Given the description of an element on the screen output the (x, y) to click on. 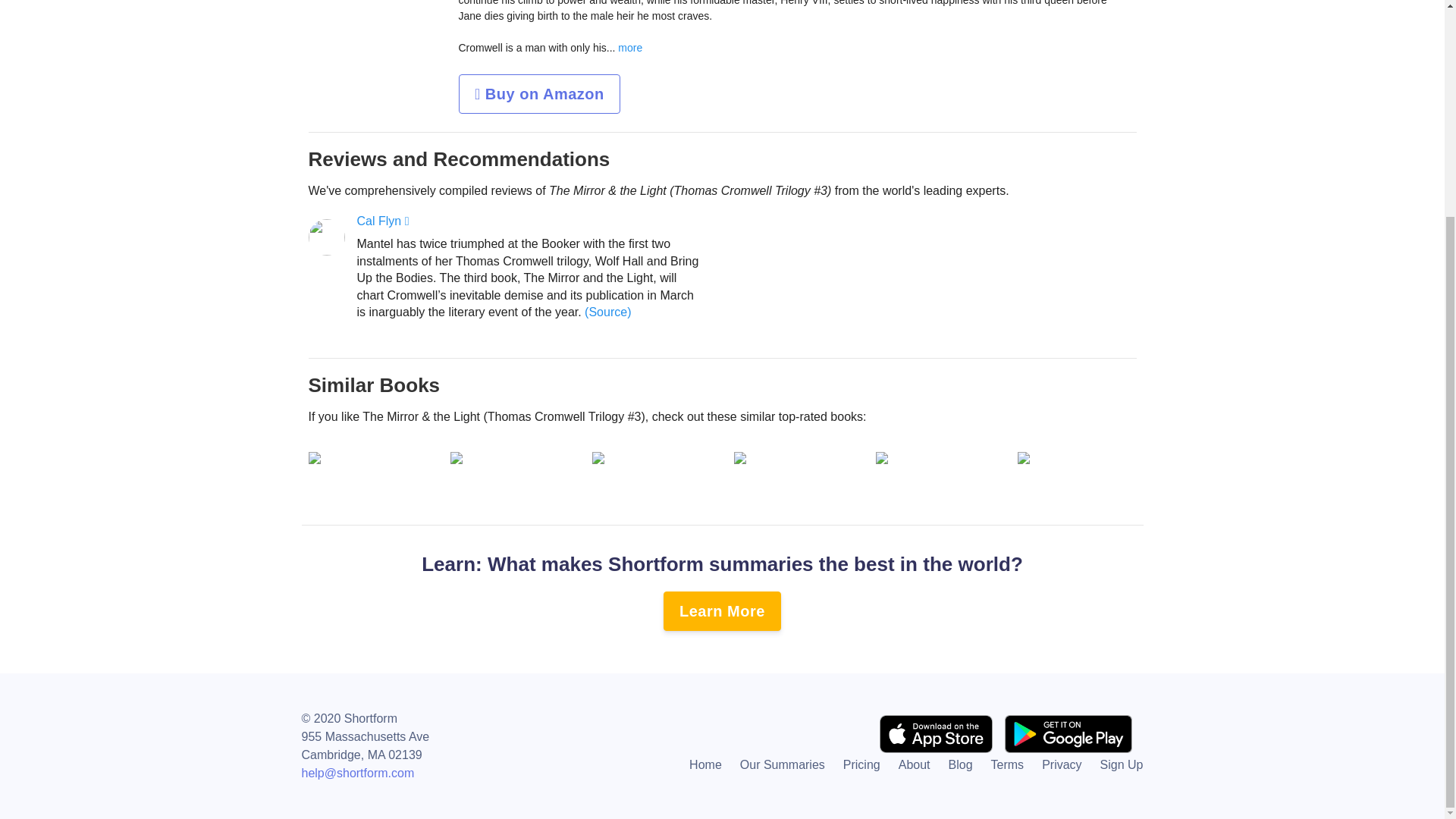
more (628, 47)
Privacy (1061, 764)
Learn More (721, 610)
Pricing (861, 764)
Cal Flyn (382, 220)
Buy on Amazon (539, 93)
Terms (1007, 764)
Home (704, 764)
About (914, 764)
Blog (960, 764)
